Given the description of an element on the screen output the (x, y) to click on. 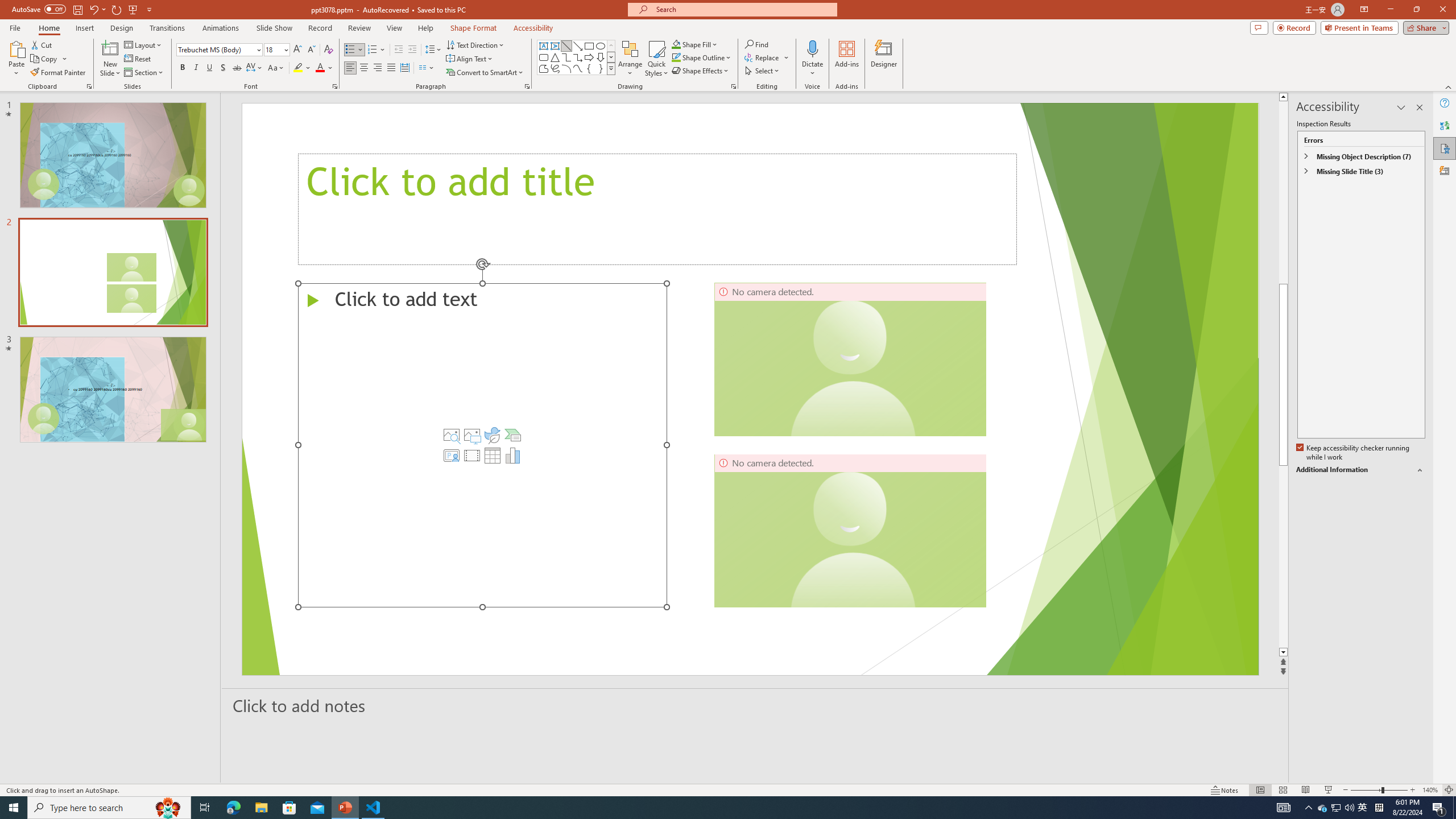
Shape Format (473, 28)
Convert to SmartArt (485, 72)
Reset (138, 58)
Cut (42, 44)
Arrow: Down (600, 57)
Rectangle (589, 45)
Content Placeholder (482, 445)
